Given the description of an element on the screen output the (x, y) to click on. 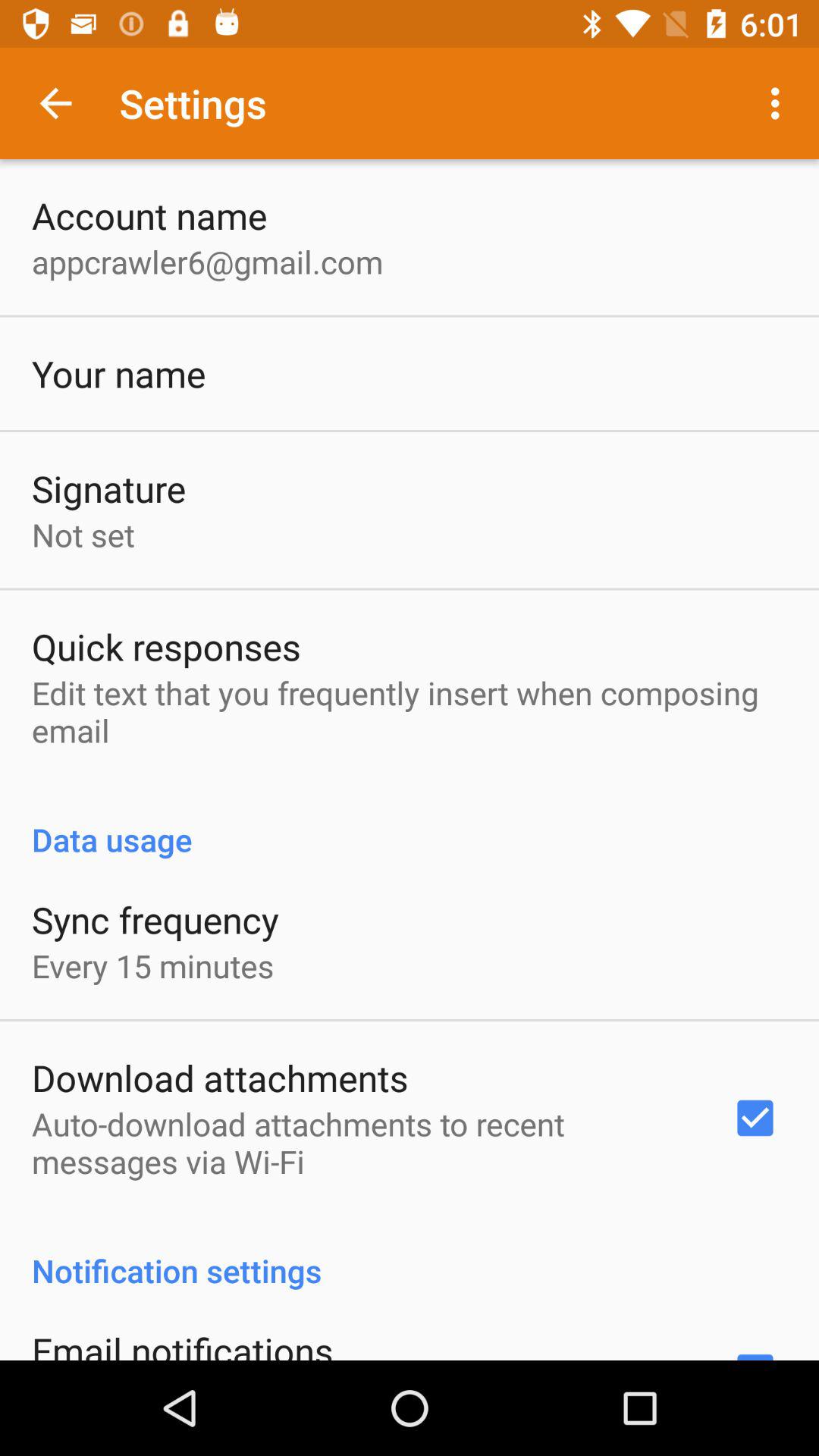
turn off item above the appcrawler6@gmail.com app (149, 215)
